Given the description of an element on the screen output the (x, y) to click on. 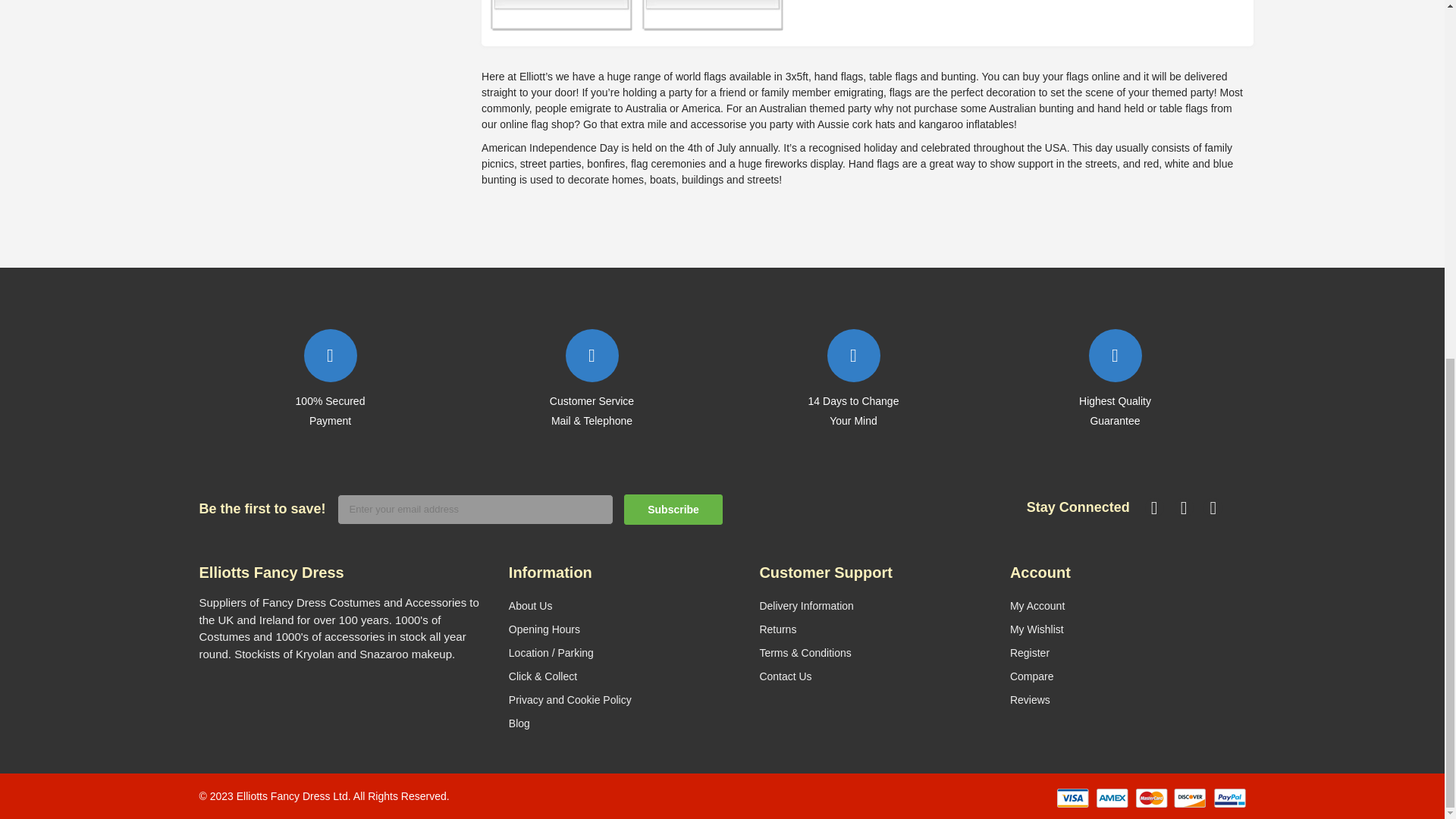
Asia (712, 10)
European (1014, 10)
Caribbean (863, 10)
Middle East (1165, 10)
Africa (560, 10)
